Given the description of an element on the screen output the (x, y) to click on. 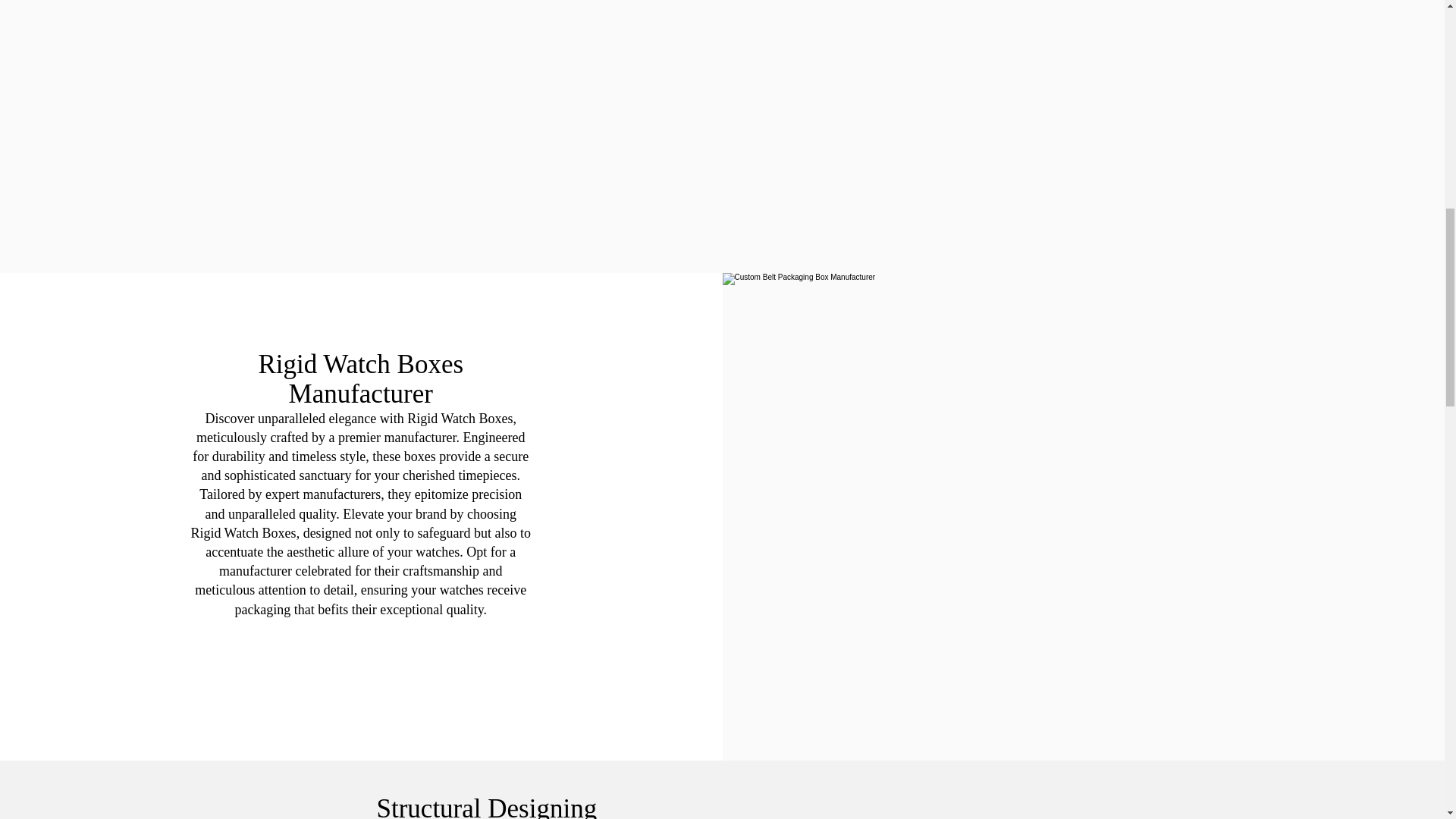
Rigid Watch Boxes (242, 532)
